Given the description of an element on the screen output the (x, y) to click on. 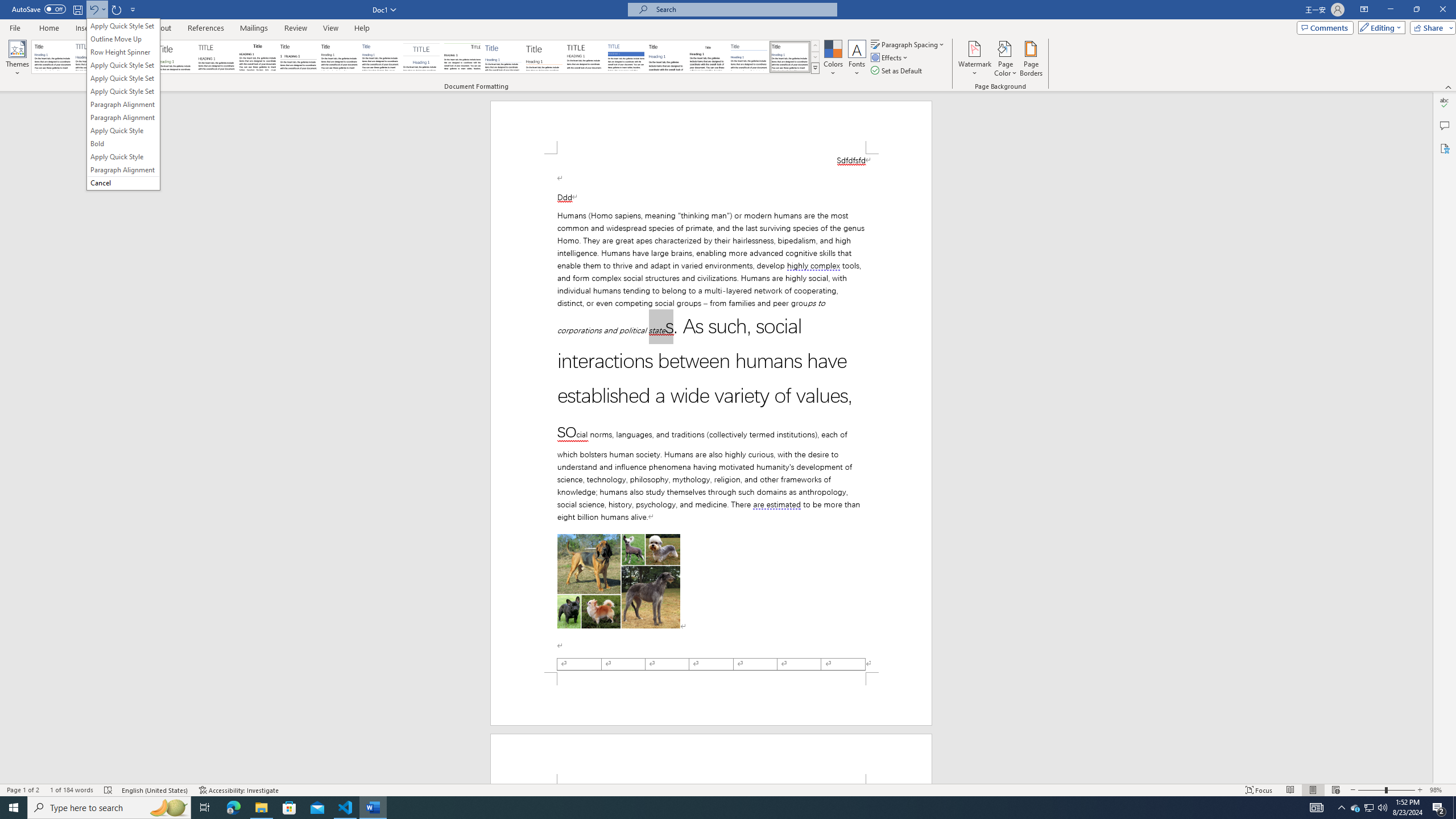
Lines (Simple) (503, 56)
Word (666, 56)
Undo Apply Quick Style Set (96, 9)
Black & White (Word 2013) (338, 56)
Shaded (625, 56)
